Given the description of an element on the screen output the (x, y) to click on. 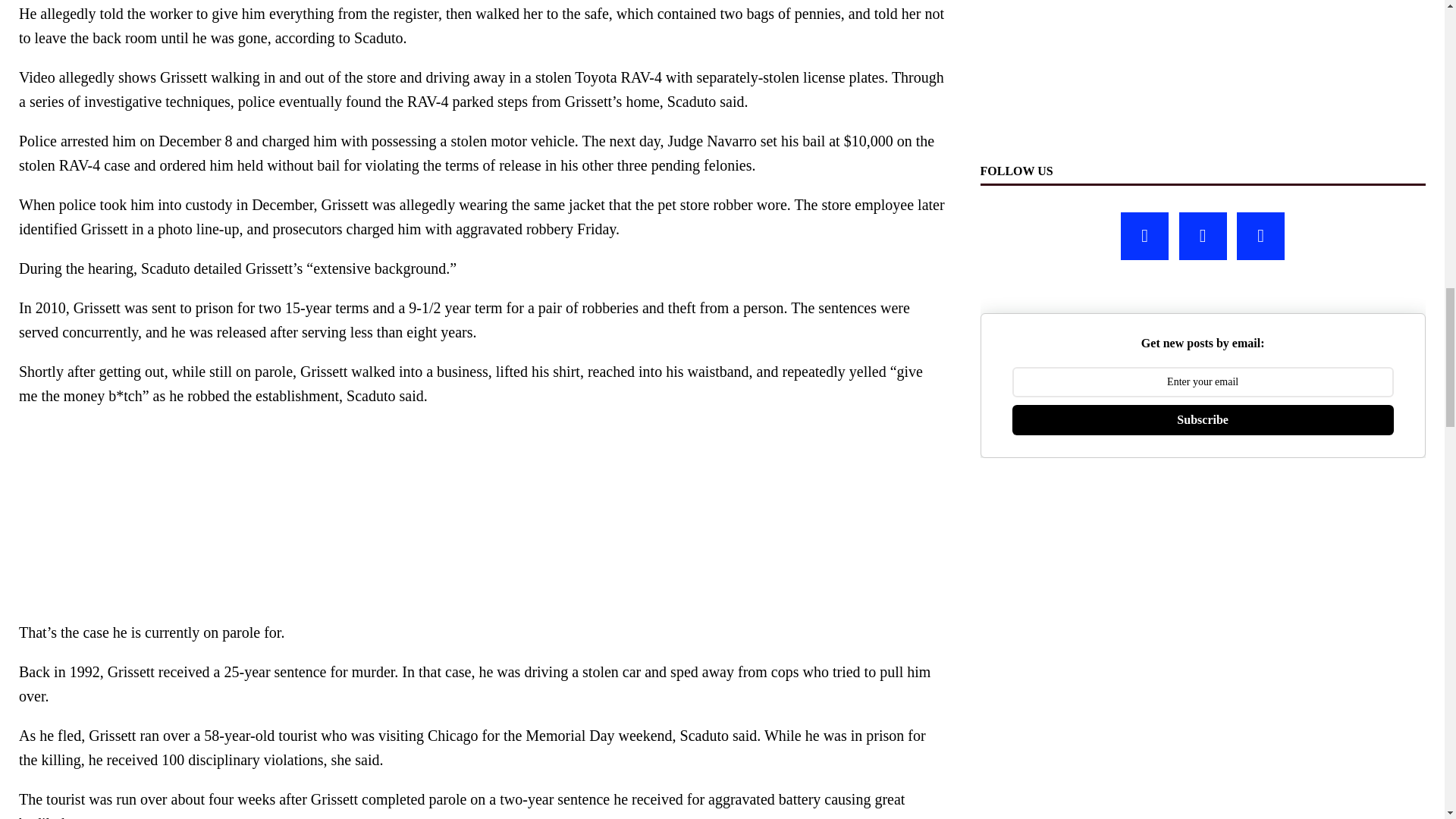
Subscribe (1202, 419)
